Given the description of an element on the screen output the (x, y) to click on. 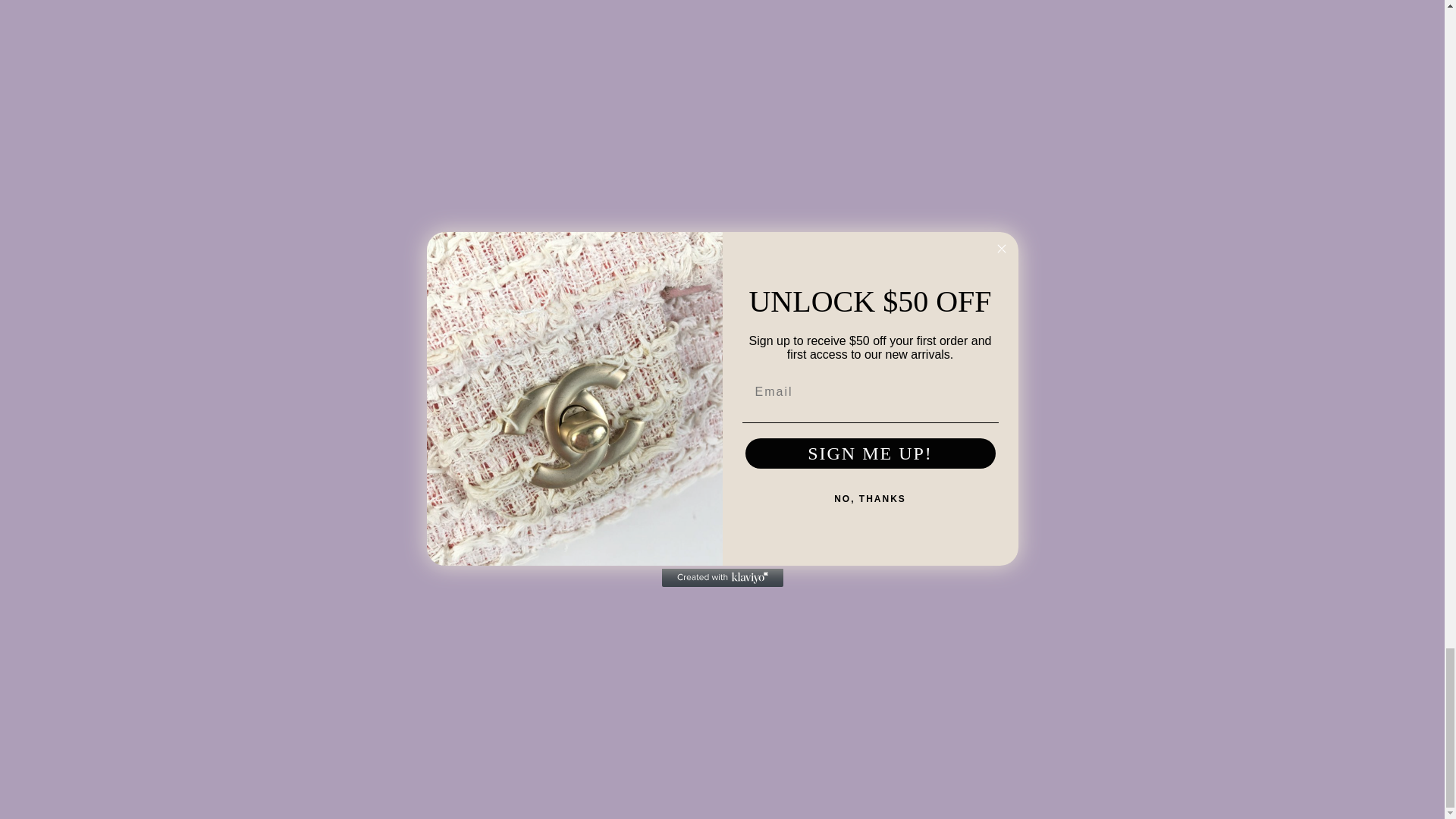
Sustainability (975, 633)
Blog (487, 687)
Payment terms (1117, 669)
Sold Items (504, 669)
Authentication Policy (996, 669)
Shop (489, 596)
Company information (1134, 615)
Privacy policy (1114, 596)
FAQ (951, 651)
Consignment agreement (1143, 651)
Contact (960, 615)
Our story (965, 596)
